Given the description of an element on the screen output the (x, y) to click on. 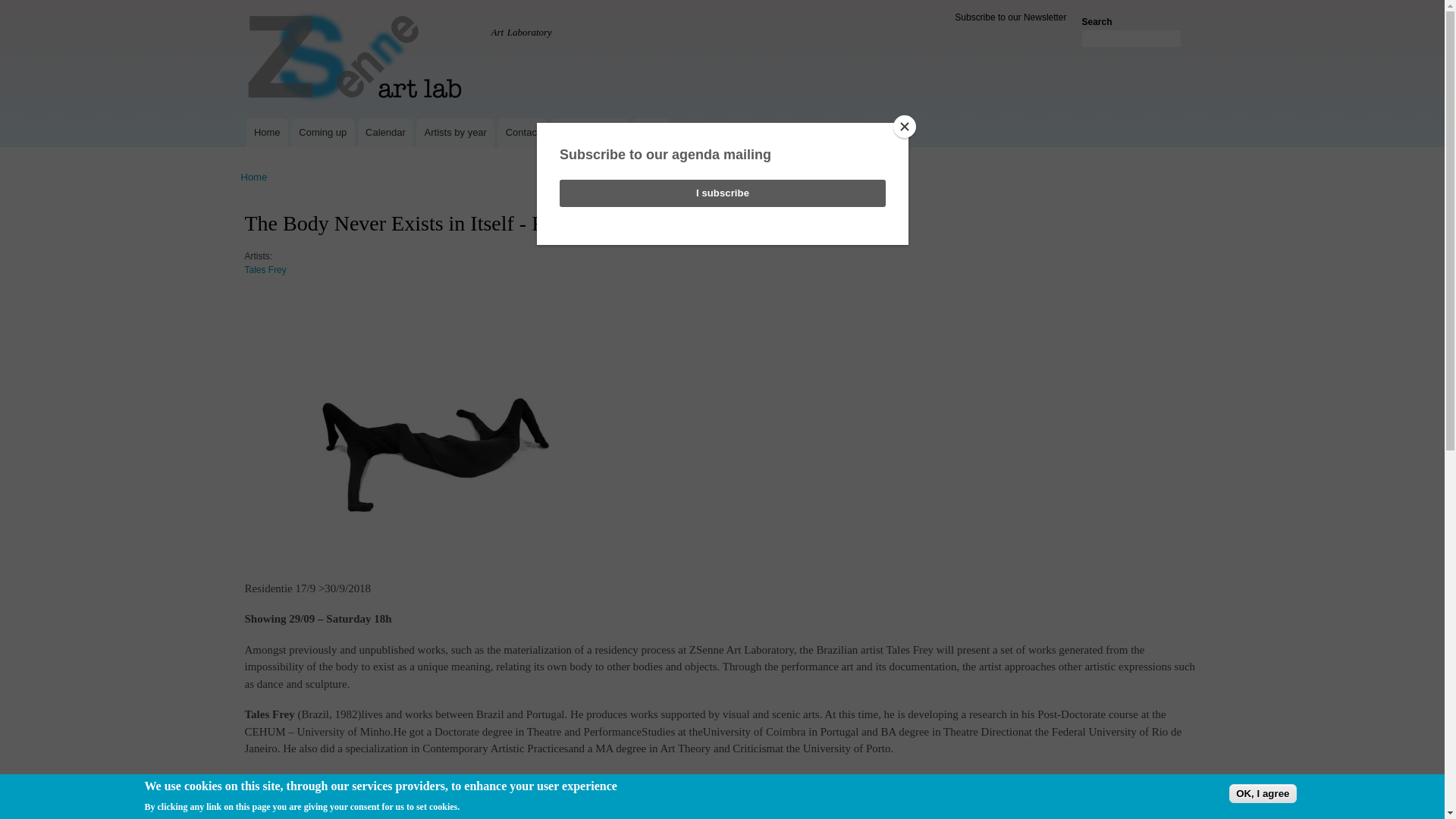
Contact (522, 132)
Home (254, 176)
Artists by year (455, 132)
Skip to main content (690, 1)
Links (651, 132)
Home (266, 132)
Coming up (323, 132)
Subscribe to our Newsletter (1010, 17)
ZSenne (266, 28)
About ZSenne (589, 132)
Tales Frey (264, 275)
Home (356, 58)
Home (266, 28)
Enter the terms you wish to search for. (1130, 38)
